Given the description of an element on the screen output the (x, y) to click on. 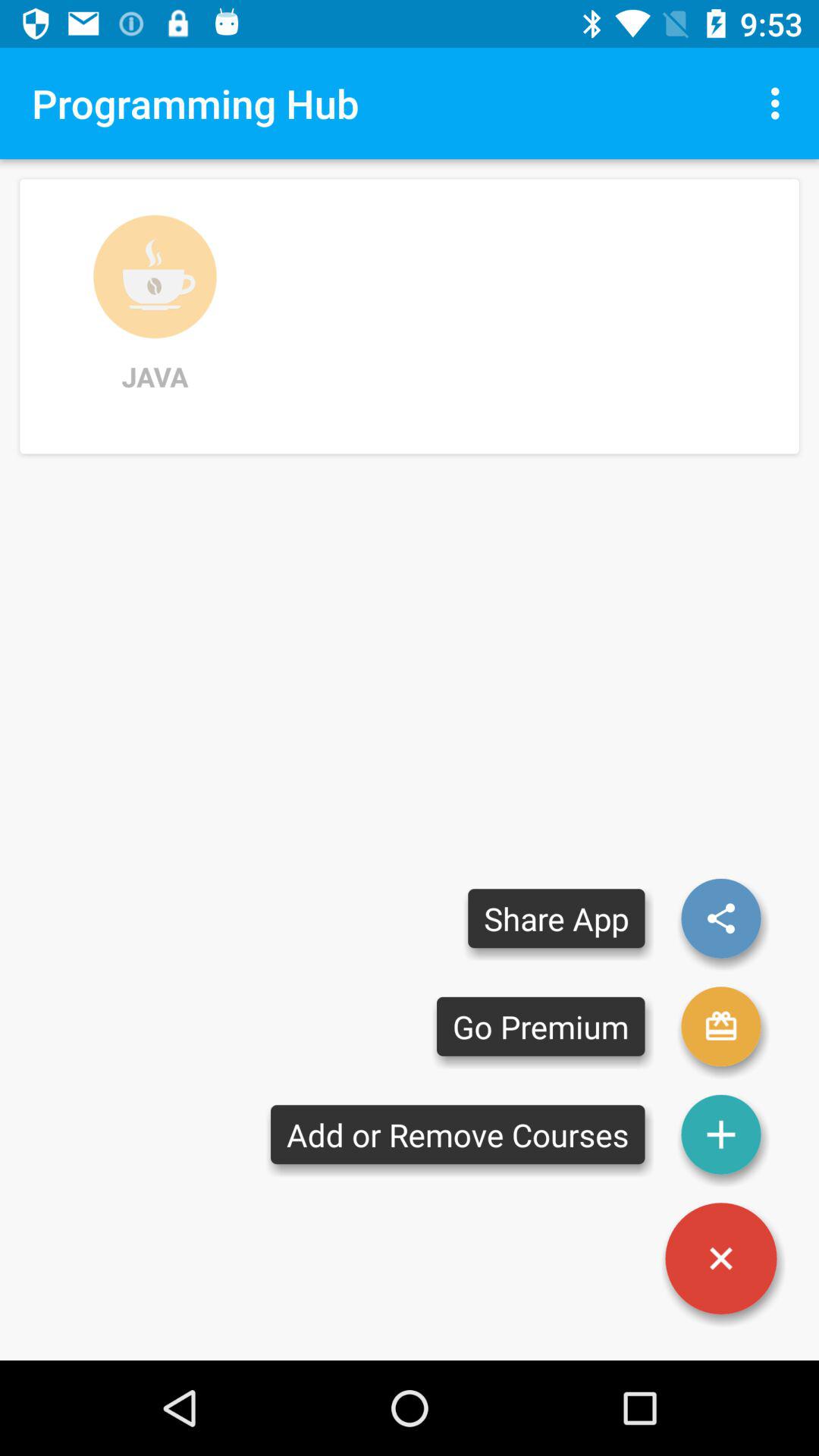
close (721, 1258)
